Given the description of an element on the screen output the (x, y) to click on. 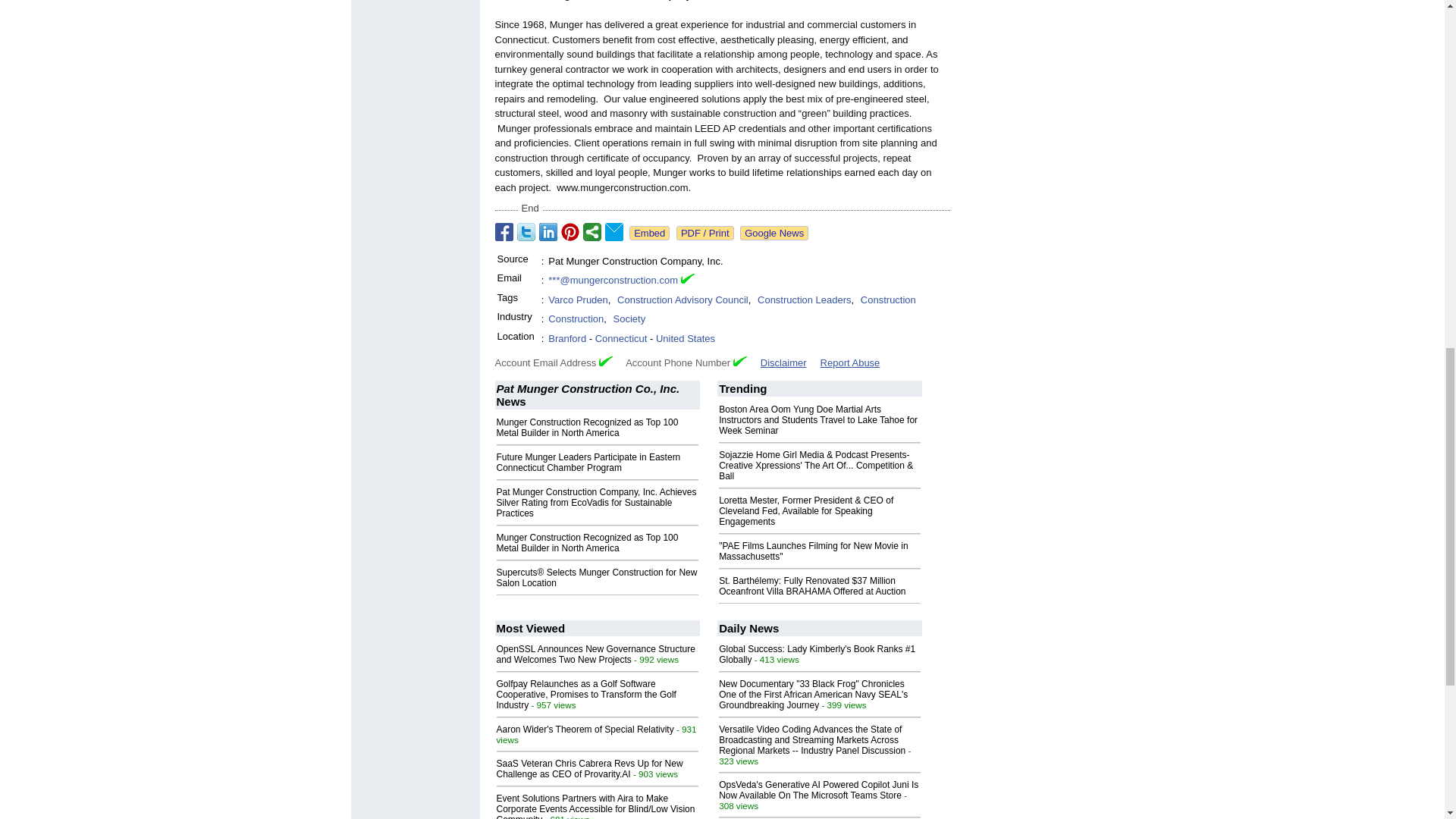
Share on StumbleUpon, Digg, etc (590, 231)
Email Verified (687, 280)
Embed this press release in your website! (648, 233)
See or print the PDF version! (705, 233)
Email to a Friend (614, 231)
Share on Facebook (503, 231)
Share on Twitter (525, 231)
Share on Pinterest (569, 231)
Embed (648, 233)
Verified (739, 361)
Verified (605, 361)
Share on LinkedIn (547, 231)
